Given the description of an element on the screen output the (x, y) to click on. 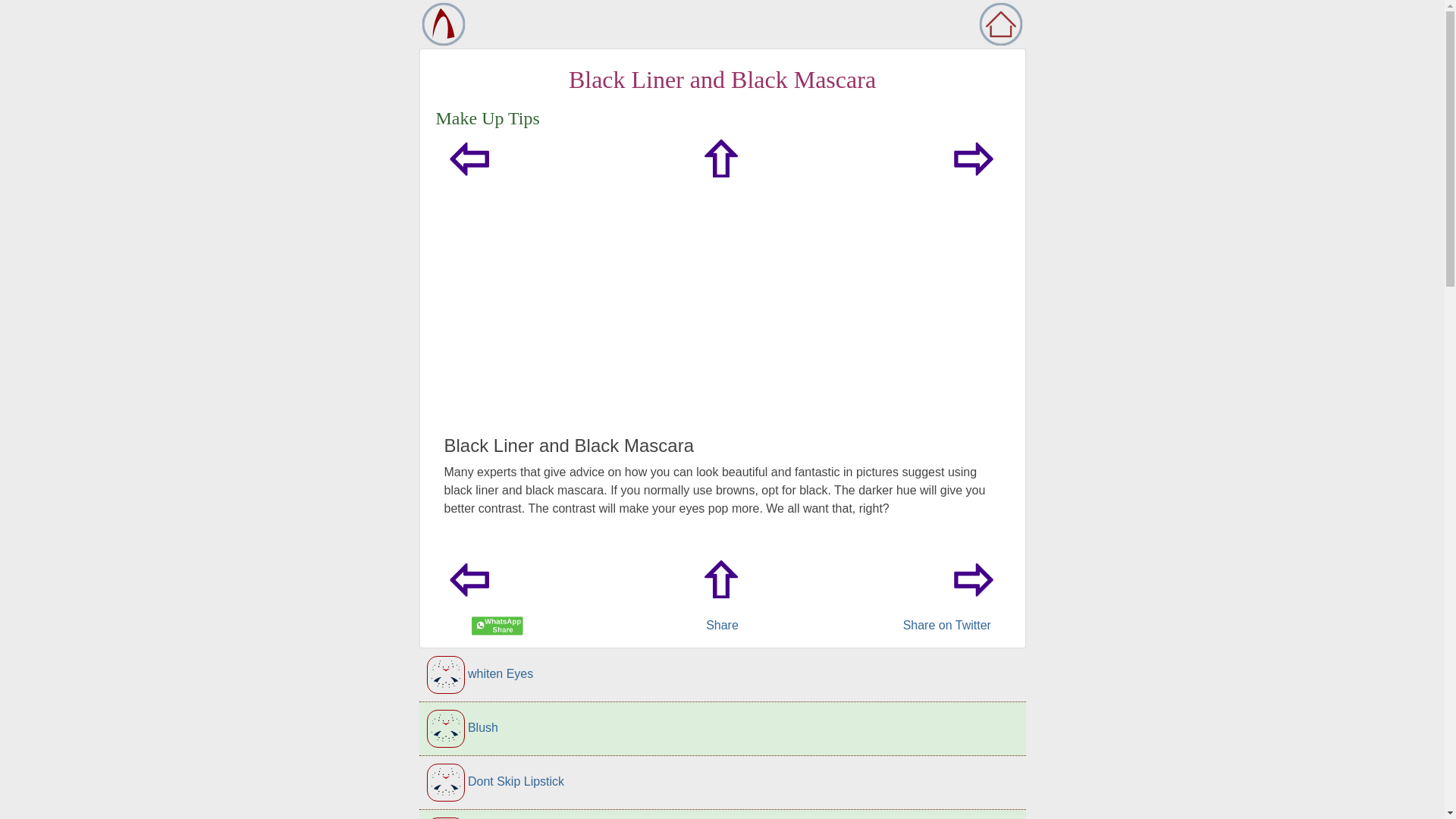
whiten Eyes (722, 674)
Share on Twitter (946, 625)
Dont Skip Lipstick (722, 782)
Blush (722, 728)
Advertisement (722, 321)
Share (722, 625)
